Given the description of an element on the screen output the (x, y) to click on. 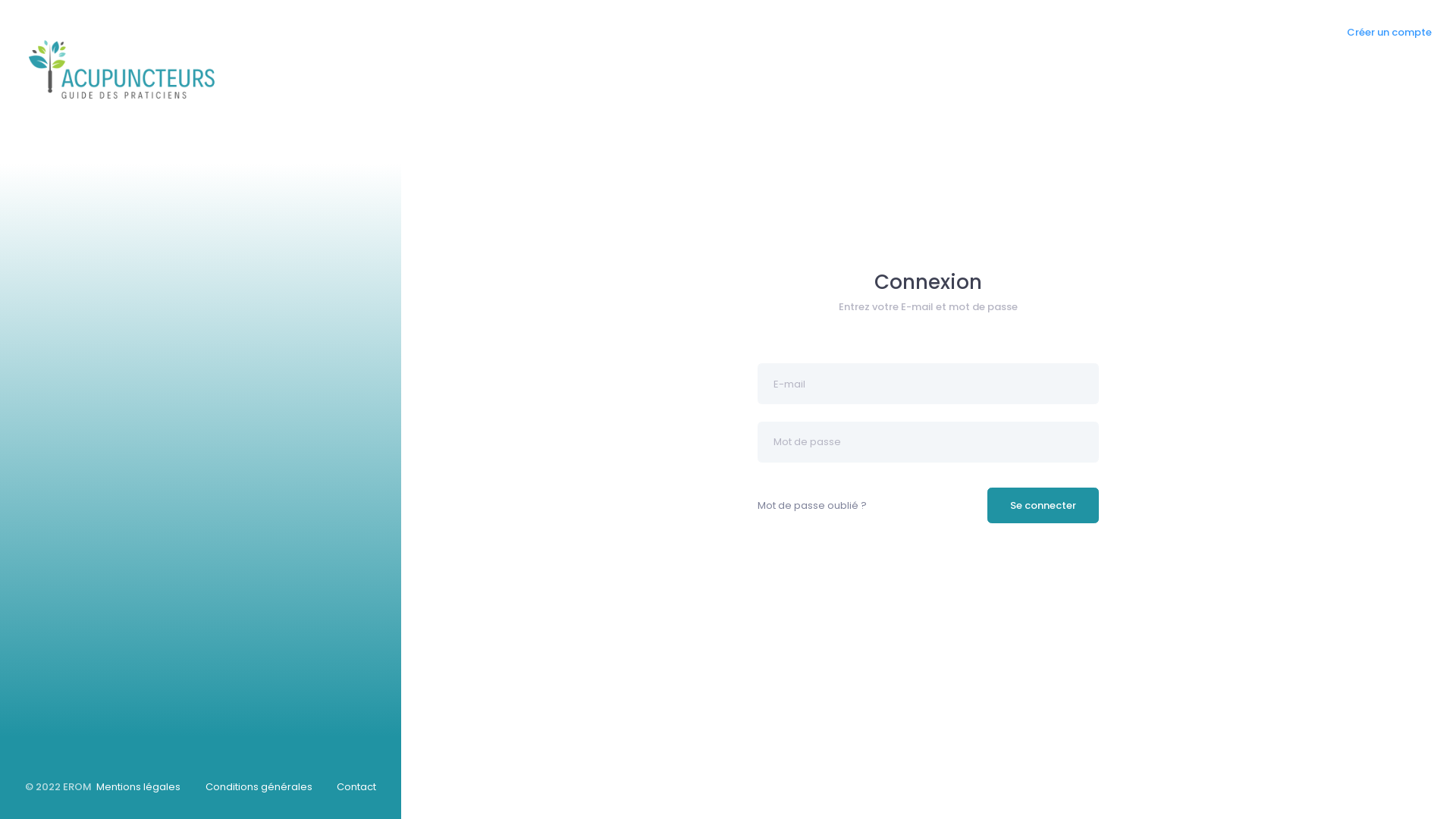
Contact Element type: text (356, 786)
EROM Element type: text (76, 786)
Se connecter Element type: text (1043, 505)
